Given the description of an element on the screen output the (x, y) to click on. 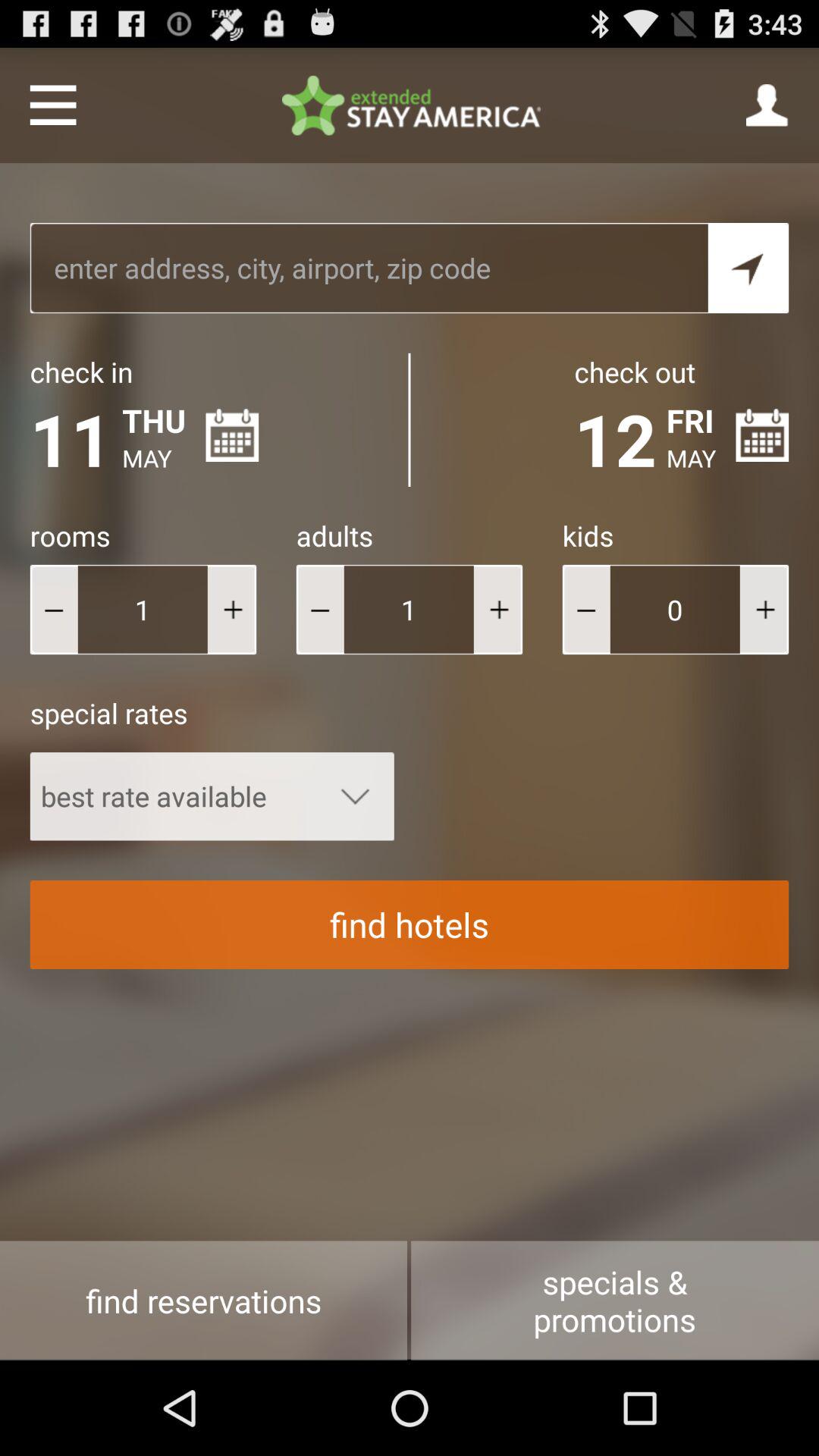
subtract rooms (53, 609)
